Given the description of an element on the screen output the (x, y) to click on. 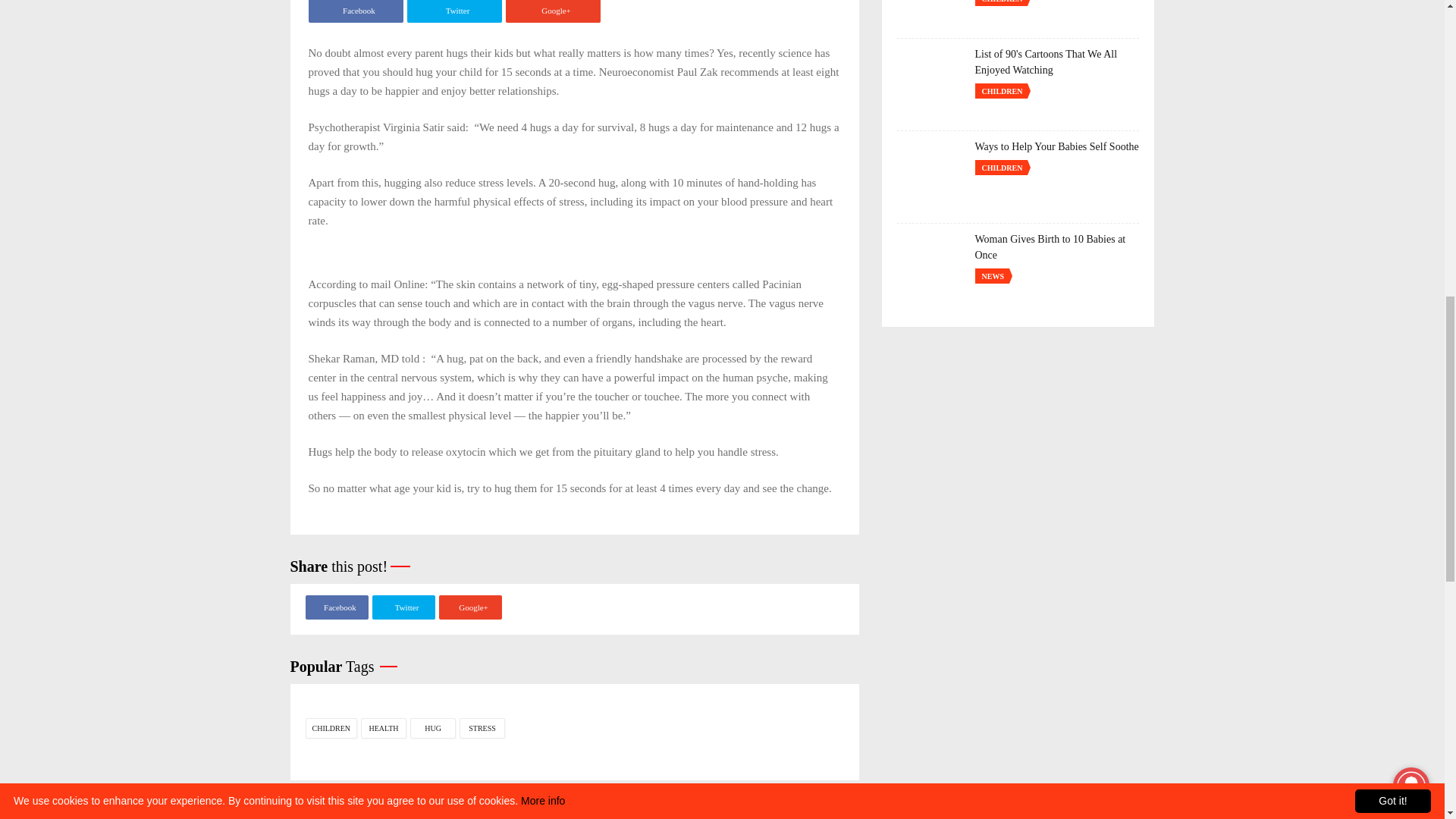
Health Tag (383, 728)
Twitter (402, 607)
STRESS (482, 728)
Hug Tag (432, 728)
Facebook (355, 11)
Twitter (453, 11)
Children Tag (330, 728)
CHILDREN (330, 728)
HUG (432, 728)
HEALTH (383, 728)
Facebook (336, 607)
Stress Tag (482, 728)
